Given the description of an element on the screen output the (x, y) to click on. 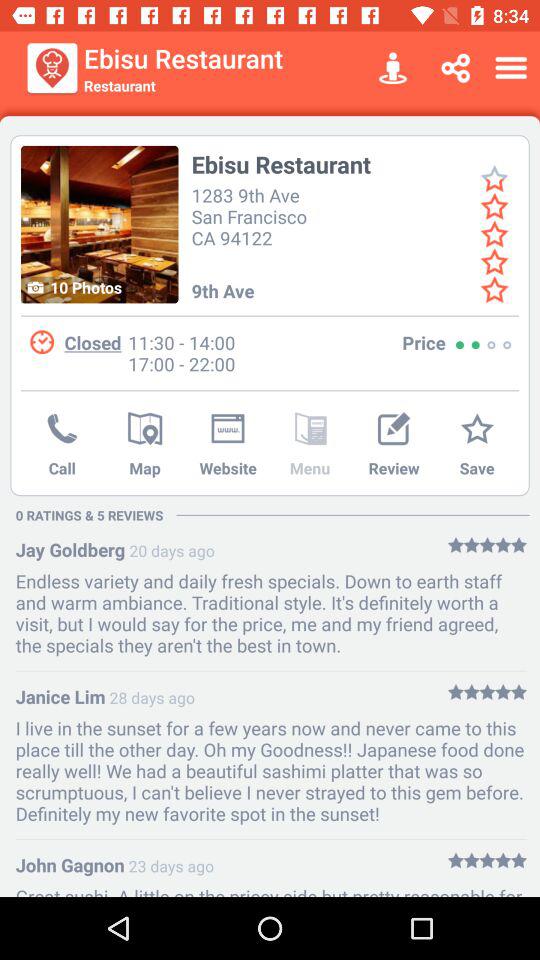
turn off item above menu icon (310, 429)
